Given the description of an element on the screen output the (x, y) to click on. 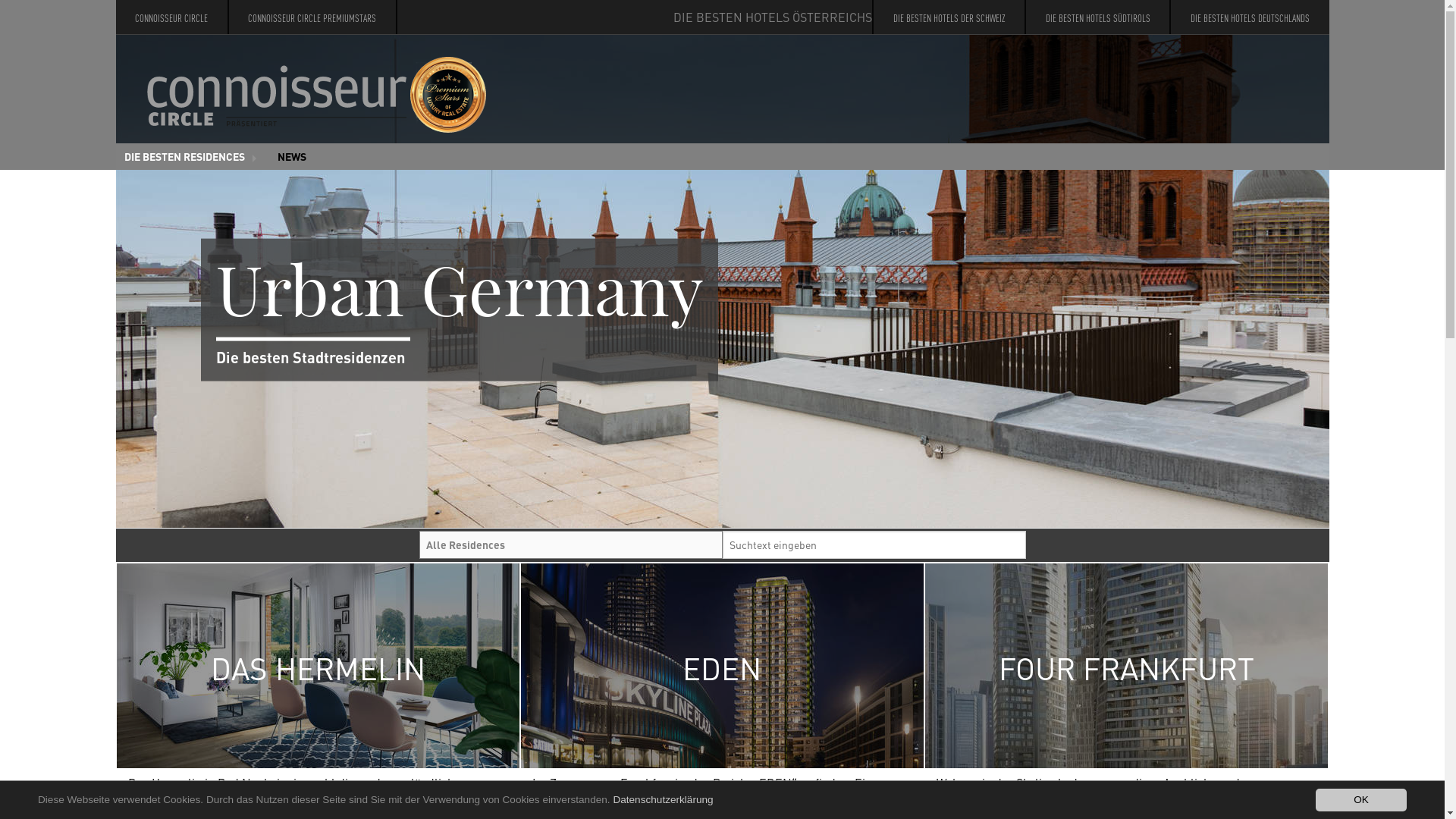
OK Element type: text (1360, 799)
CONNOISSEUR CIRCLE Element type: text (170, 17)
URBAN AUSTRIA Element type: text (191, 209)
DIE BESTEN HOTELS DEUTSCHLANDS Element type: text (1249, 17)
NEWS Element type: text (292, 156)
CONNOISSEUR CIRCLE PREMIUMSTARS Element type: text (311, 17)
SEASIDE EUROPE Element type: text (191, 289)
ALLE RESIDENCES Element type: text (191, 182)
SEASIDE GLOBAL Element type: text (191, 315)
Urban Germany
Die besten Stadtresidenzen Element type: text (721, 280)
URBAN GERMANY Element type: text (191, 235)
URBAN GLOBAL Element type: text (191, 262)
MOUNTAIN Element type: text (191, 342)
DIE BESTEN HOTELS DER SCHWEIZ Element type: text (949, 17)
DIE BESTEN RESIDENCES Element type: text (191, 156)
